Given the description of an element on the screen output the (x, y) to click on. 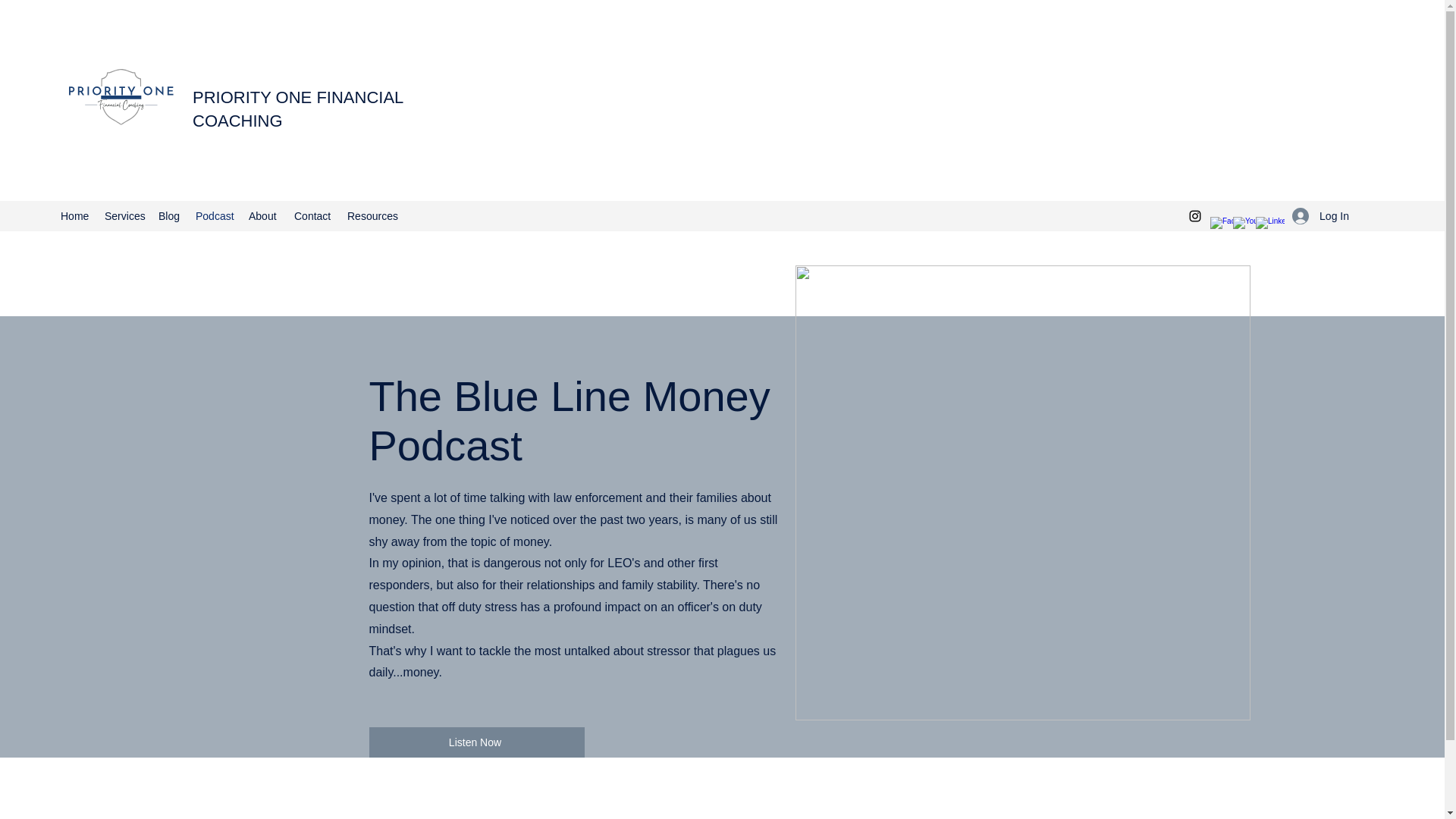
Log In (1320, 215)
Podcast (214, 215)
Listen Now (475, 742)
Blog (169, 215)
About (263, 215)
Contact (312, 215)
Resources (371, 215)
Services (124, 215)
Home (74, 215)
PRIORITY ONE FINANCIAL COACHING (297, 108)
